Given the description of an element on the screen output the (x, y) to click on. 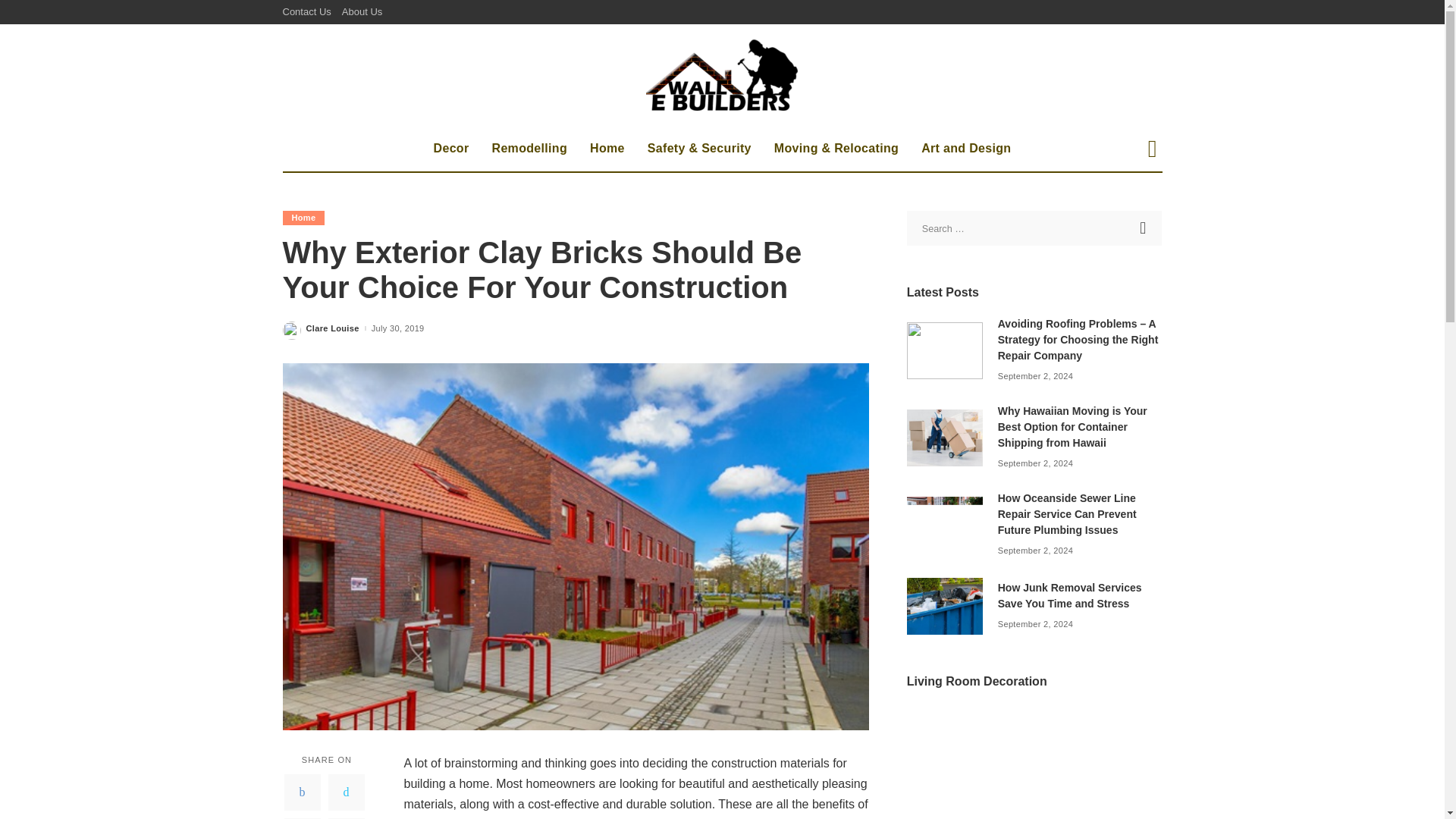
Facebook (301, 791)
Clare Louise (332, 328)
Search (1143, 227)
Home (303, 217)
Wall-Ebuilders (721, 74)
Search (1143, 227)
Contact Us (309, 11)
Home (607, 148)
Search (1140, 201)
